Given the description of an element on the screen output the (x, y) to click on. 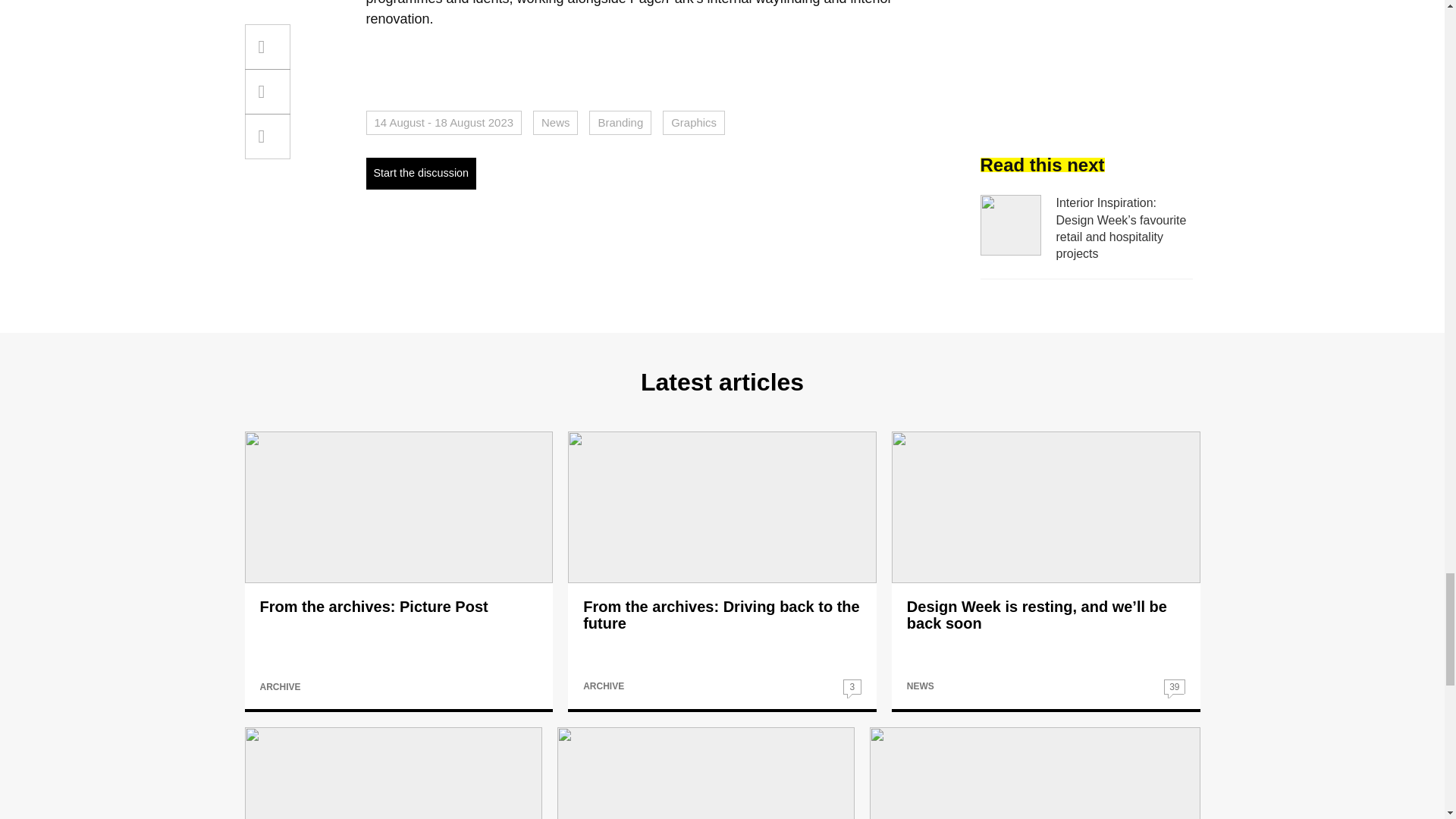
News (555, 122)
Start the discussion (420, 173)
Branding (619, 122)
14 August - 18 August 2023 (443, 122)
From the archives: Picture Post (373, 606)
Graphics (693, 122)
